Given the description of an element on the screen output the (x, y) to click on. 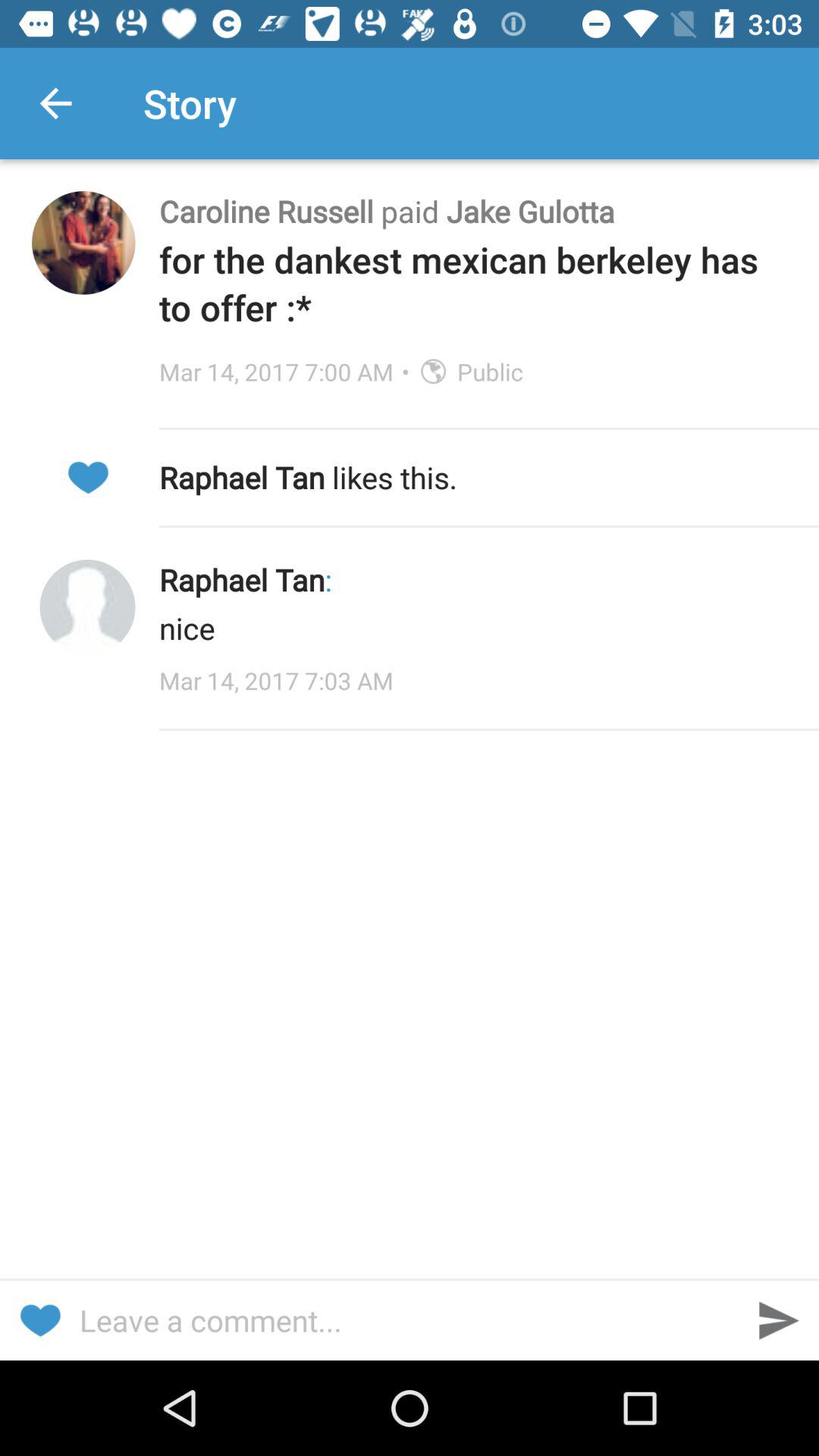
jump until for the dankest item (473, 283)
